Given the description of an element on the screen output the (x, y) to click on. 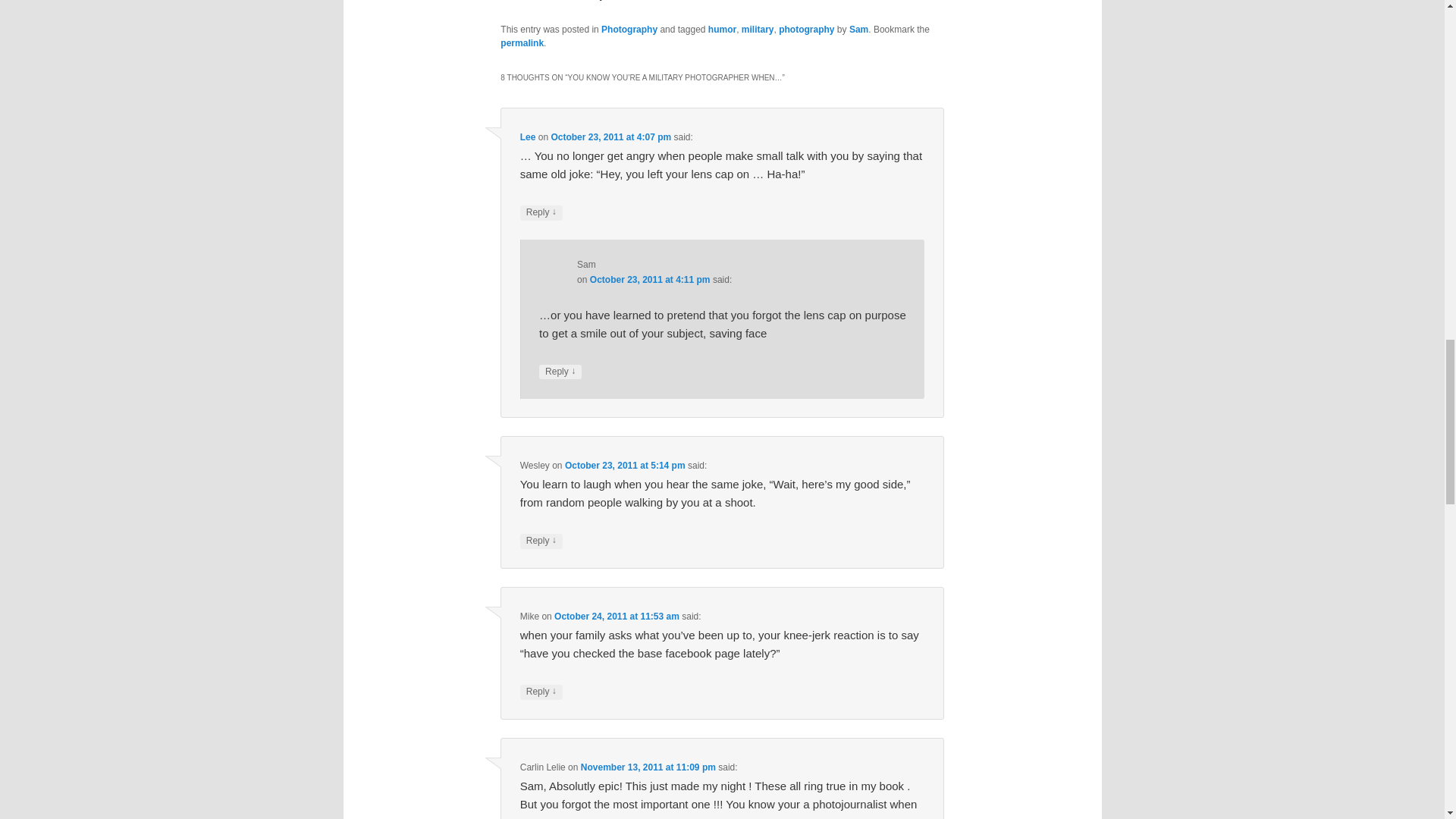
October 24, 2011 at 11:53 am (616, 615)
Photography (629, 29)
October 23, 2011 at 4:11 pm (649, 279)
military (757, 29)
photography (806, 29)
November 13, 2011 at 11:09 pm (648, 767)
permalink (521, 42)
October 23, 2011 at 5:14 pm (624, 465)
October 23, 2011 at 4:07 pm (610, 136)
Lee (527, 136)
Sam (857, 29)
humor (721, 29)
